Given the description of an element on the screen output the (x, y) to click on. 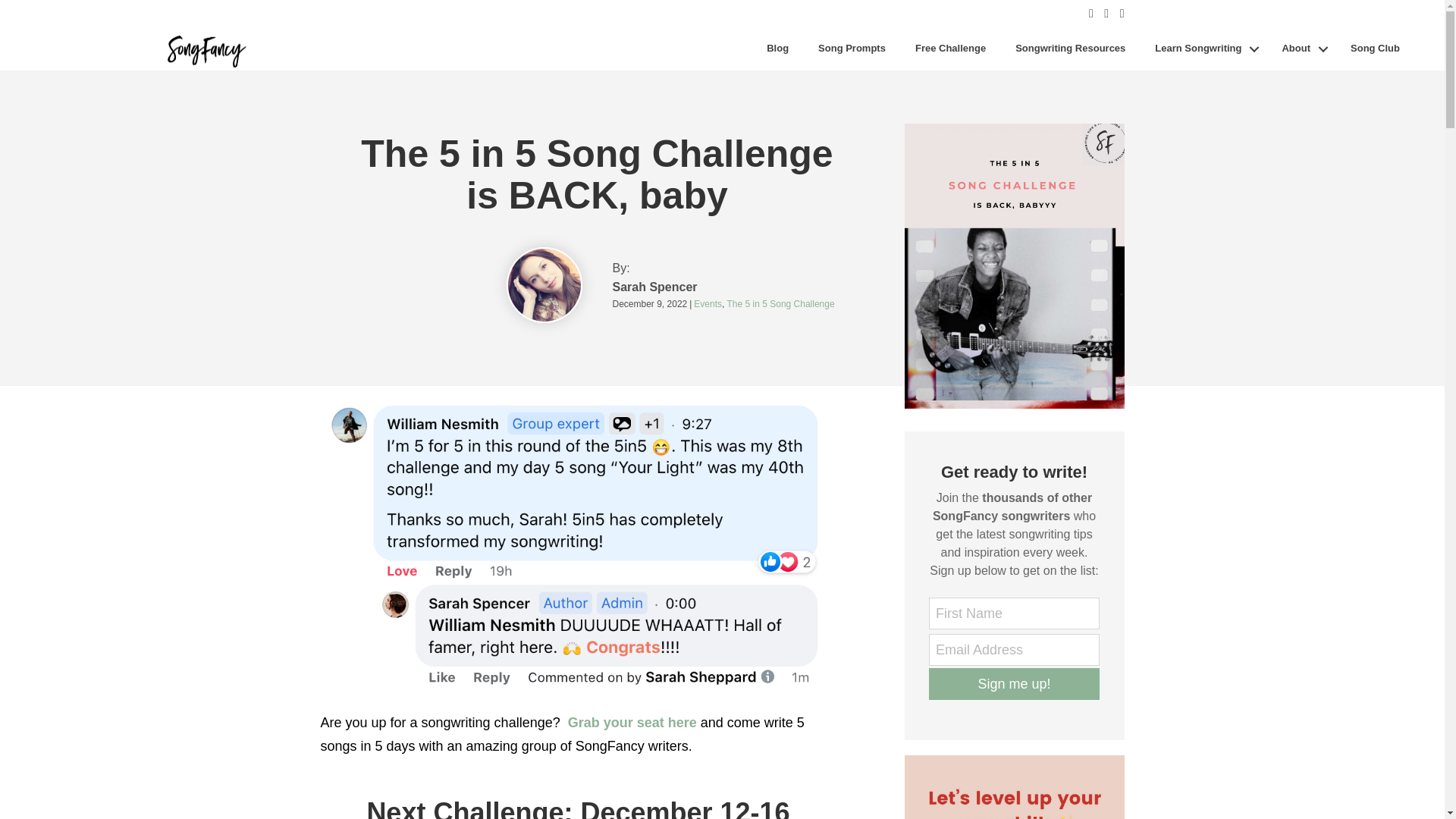
december-5-in-5-song-challenge-songfancy (1014, 265)
Song Club (1374, 48)
Learn Songwriting (1203, 48)
The 5 in 5 Song Challenge (780, 303)
logo-black-600px (205, 48)
Grab your seat here (632, 722)
About (1300, 48)
About SongFancy (1300, 48)
Sign me up! (1013, 684)
Free Challenge (950, 48)
Events (708, 303)
Song Prompts (851, 48)
sidebar-song-club (1014, 787)
Blog (777, 48)
Songwriting Resources (1070, 48)
